Given the description of an element on the screen output the (x, y) to click on. 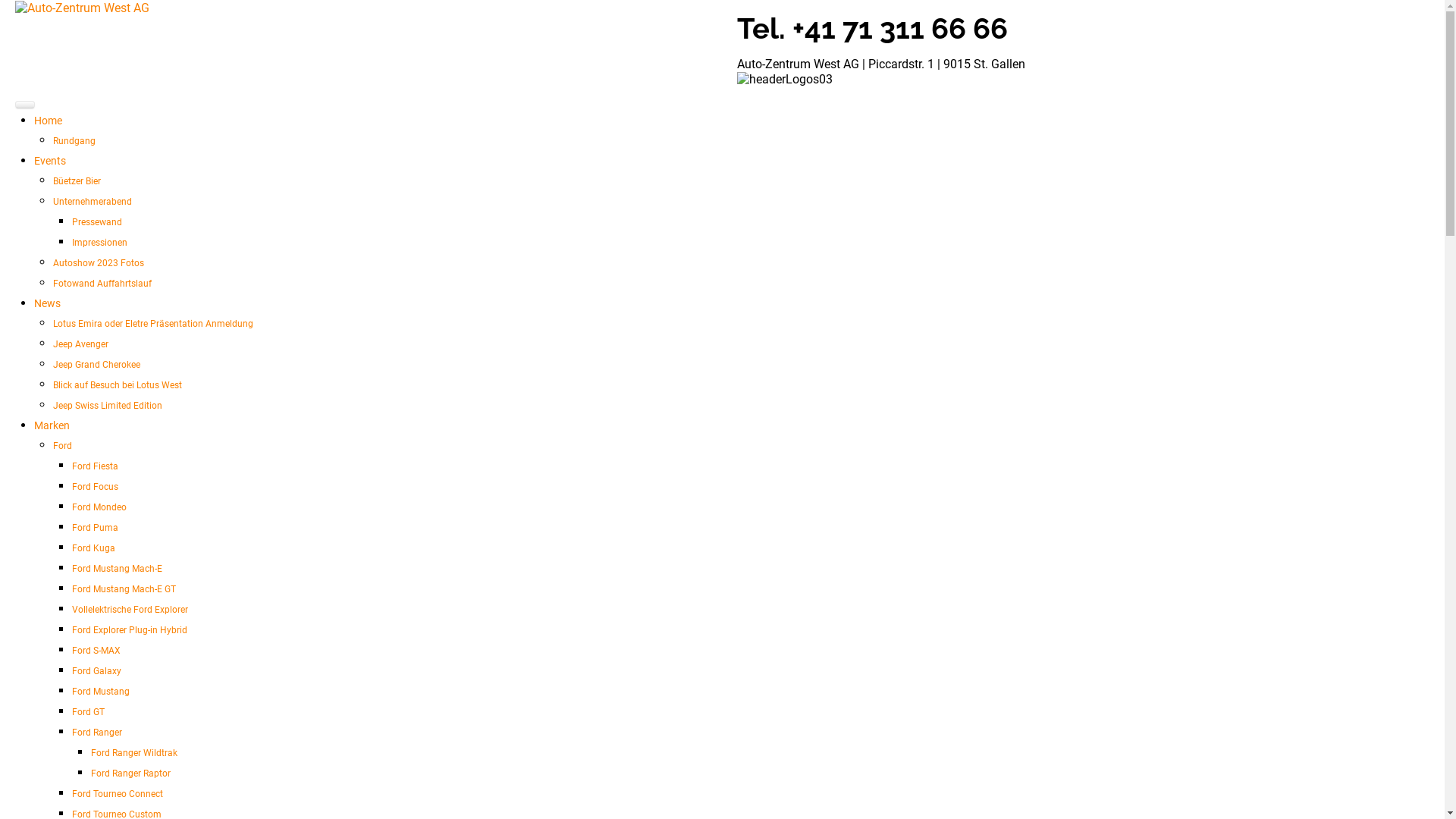
Ford Ranger Element type: text (97, 732)
Ford Mustang Mach-E Element type: text (117, 568)
Unternehmerabend Element type: text (92, 201)
Jeep Grand Cherokee Element type: text (96, 364)
Vollelektrische Ford Explorer Element type: text (130, 609)
Ford GT Element type: text (88, 711)
Impressionen Element type: text (99, 242)
Ford Ranger Raptor Element type: text (130, 773)
Ford Kuga Element type: text (93, 547)
Ford Tourneo Connect Element type: text (117, 793)
Ford Mustang Mach-E GT Element type: text (123, 588)
Rundgang Element type: text (74, 140)
Autoshow 2023 Fotos Element type: text (98, 262)
Blick auf Besuch bei Lotus West Element type: text (117, 384)
Marken Element type: text (51, 425)
Jeep Swiss Limited Edition Element type: text (107, 405)
Ford Focus Element type: text (95, 486)
Ford Element type: text (62, 445)
Ford Mondeo Element type: text (99, 507)
Ford Explorer Plug-in Hybrid Element type: text (129, 629)
Jeep Avenger Element type: text (80, 343)
Fotowand Auffahrtslauf Element type: text (102, 283)
Ford S-MAX Element type: text (96, 650)
Ford Ranger Wildtrak Element type: text (134, 752)
Ford Fiesta Element type: text (95, 466)
Home Element type: text (48, 120)
Events Element type: text (49, 160)
Ford Mustang Element type: text (100, 691)
Pressewand Element type: text (97, 221)
Ford Galaxy Element type: text (96, 670)
News Element type: text (47, 303)
Ford Puma Element type: text (95, 527)
